Given the description of an element on the screen output the (x, y) to click on. 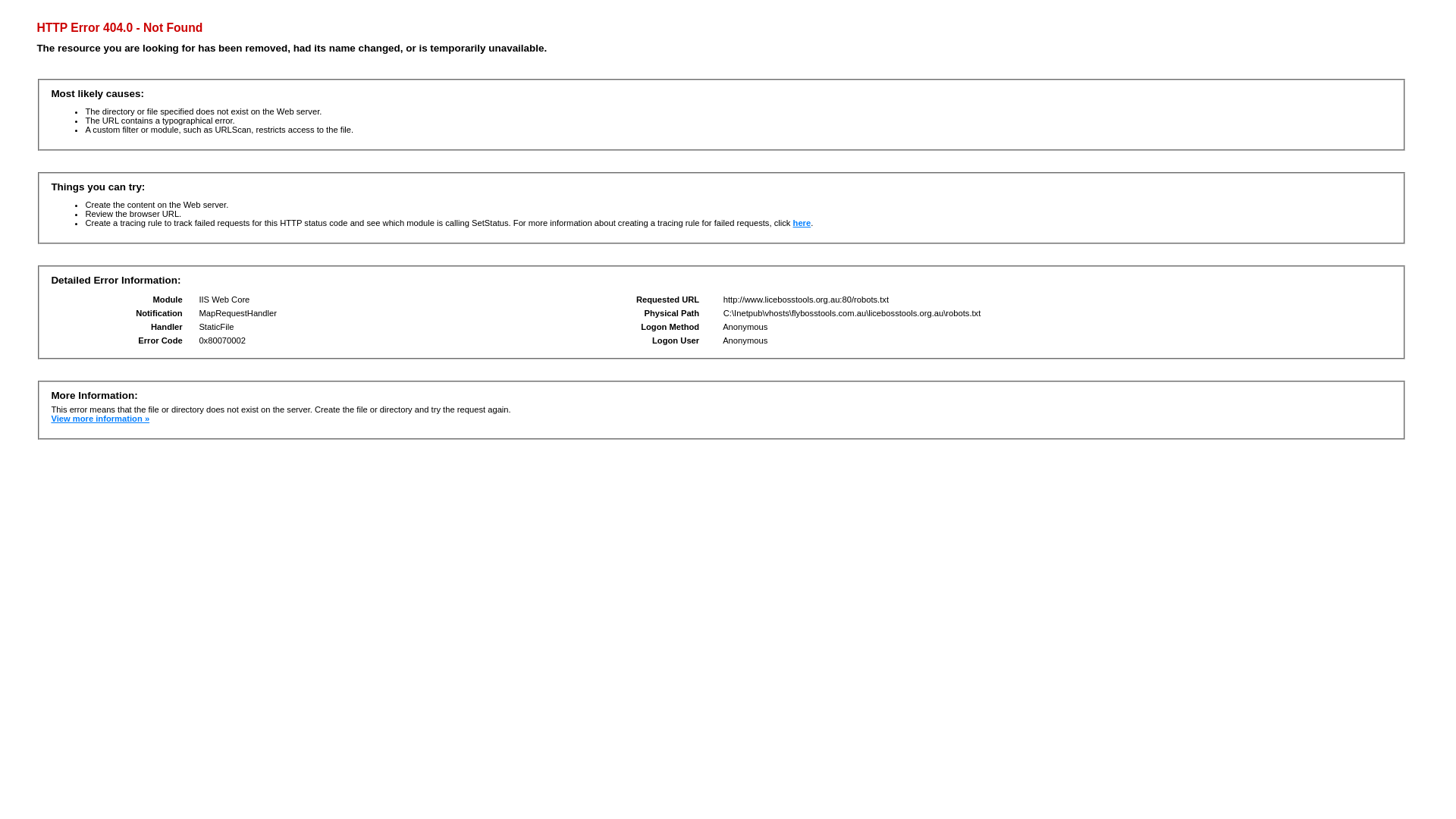
here Element type: text (802, 222)
